Given the description of an element on the screen output the (x, y) to click on. 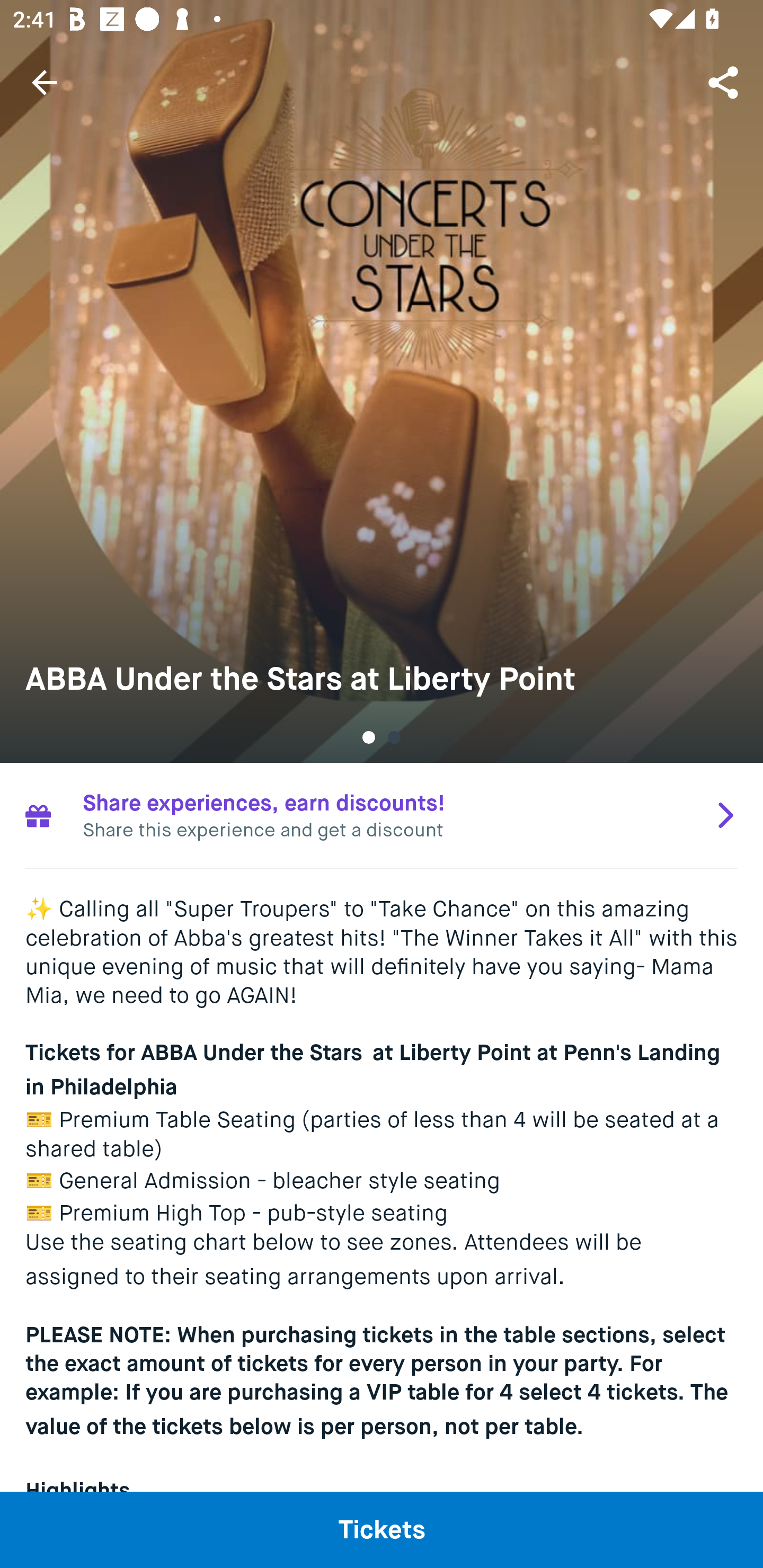
Navigate up (44, 82)
Share (724, 81)
Tickets (381, 1529)
